Given the description of an element on the screen output the (x, y) to click on. 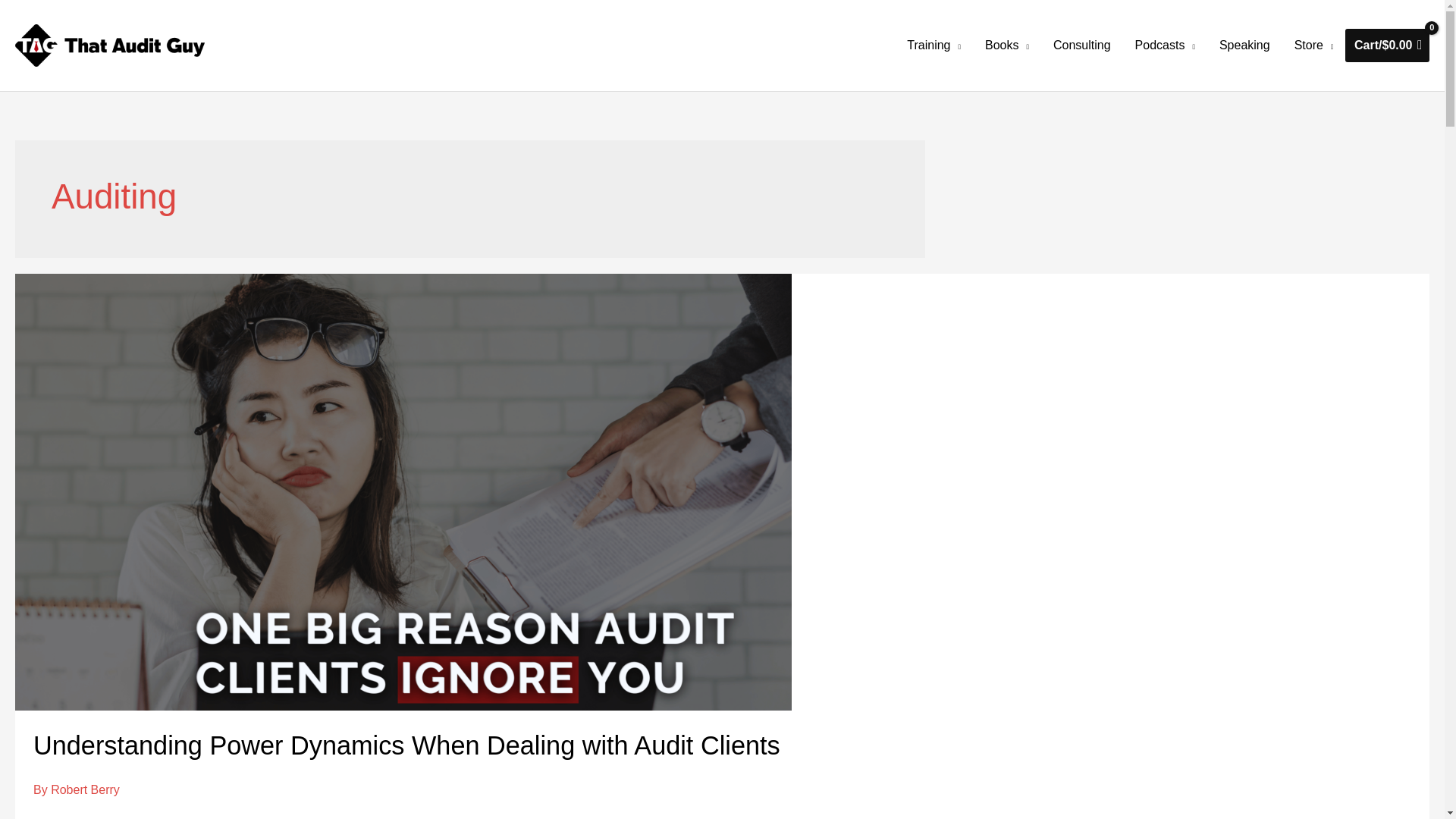
Podcasts (1164, 45)
Consulting (1081, 45)
Understanding Power Dynamics When Dealing with Audit Clients (406, 745)
Training (933, 45)
Speaking (1244, 45)
Robert Berry (84, 789)
View all posts by Robert Berry (84, 789)
Store (1313, 45)
Books (1006, 45)
